Given the description of an element on the screen output the (x, y) to click on. 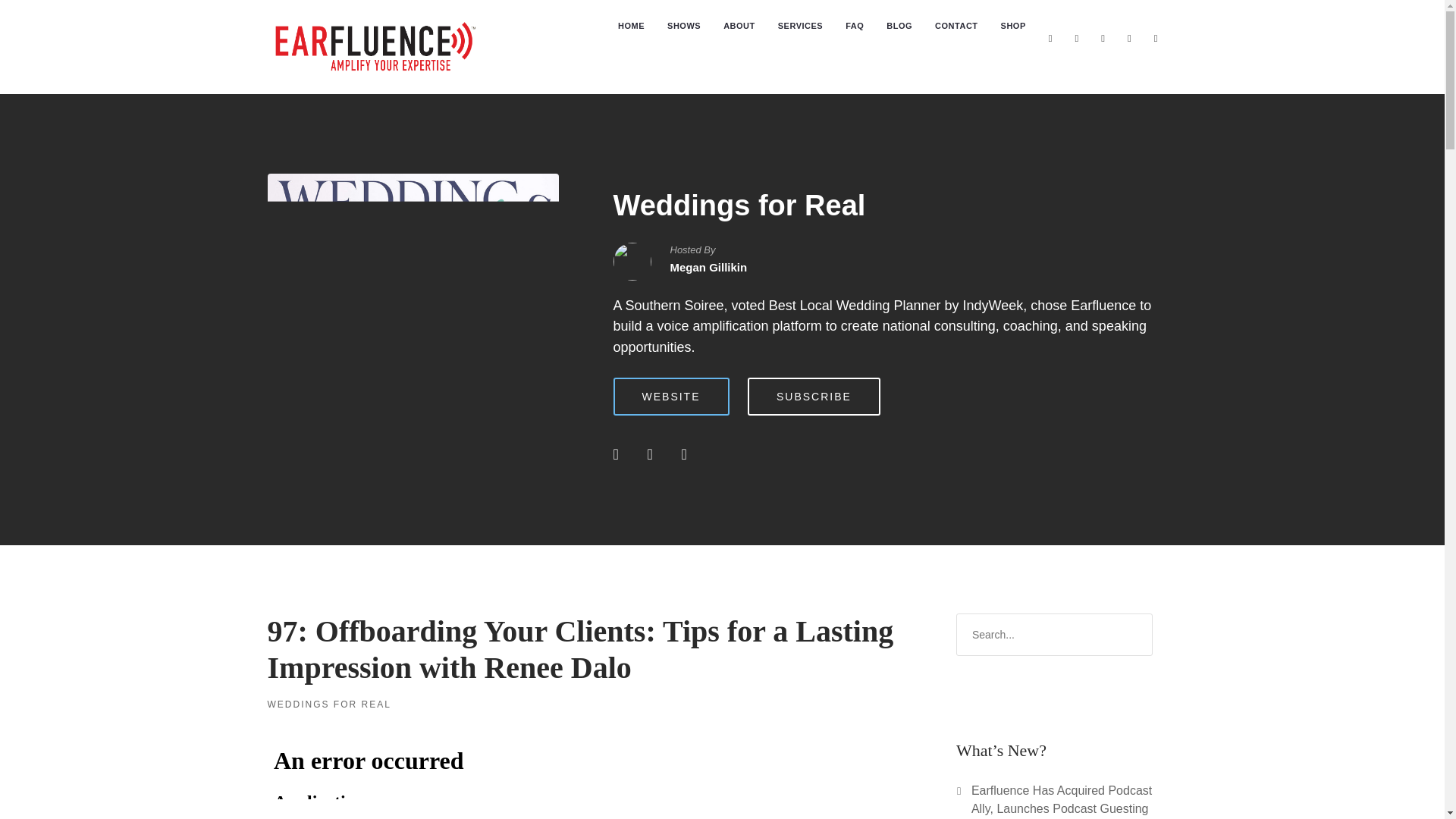
SERVICES (800, 26)
CONTACT (955, 26)
WEBSITE (670, 396)
Weddings for Real (738, 205)
Full Service Podcast Production for Businesses (631, 26)
SUBSCRIBE (814, 396)
HOME (631, 26)
BLOG (899, 26)
Podcast Production and Digital Marketing Services (800, 26)
Meet the Earfluence Team (739, 26)
